Given the description of an element on the screen output the (x, y) to click on. 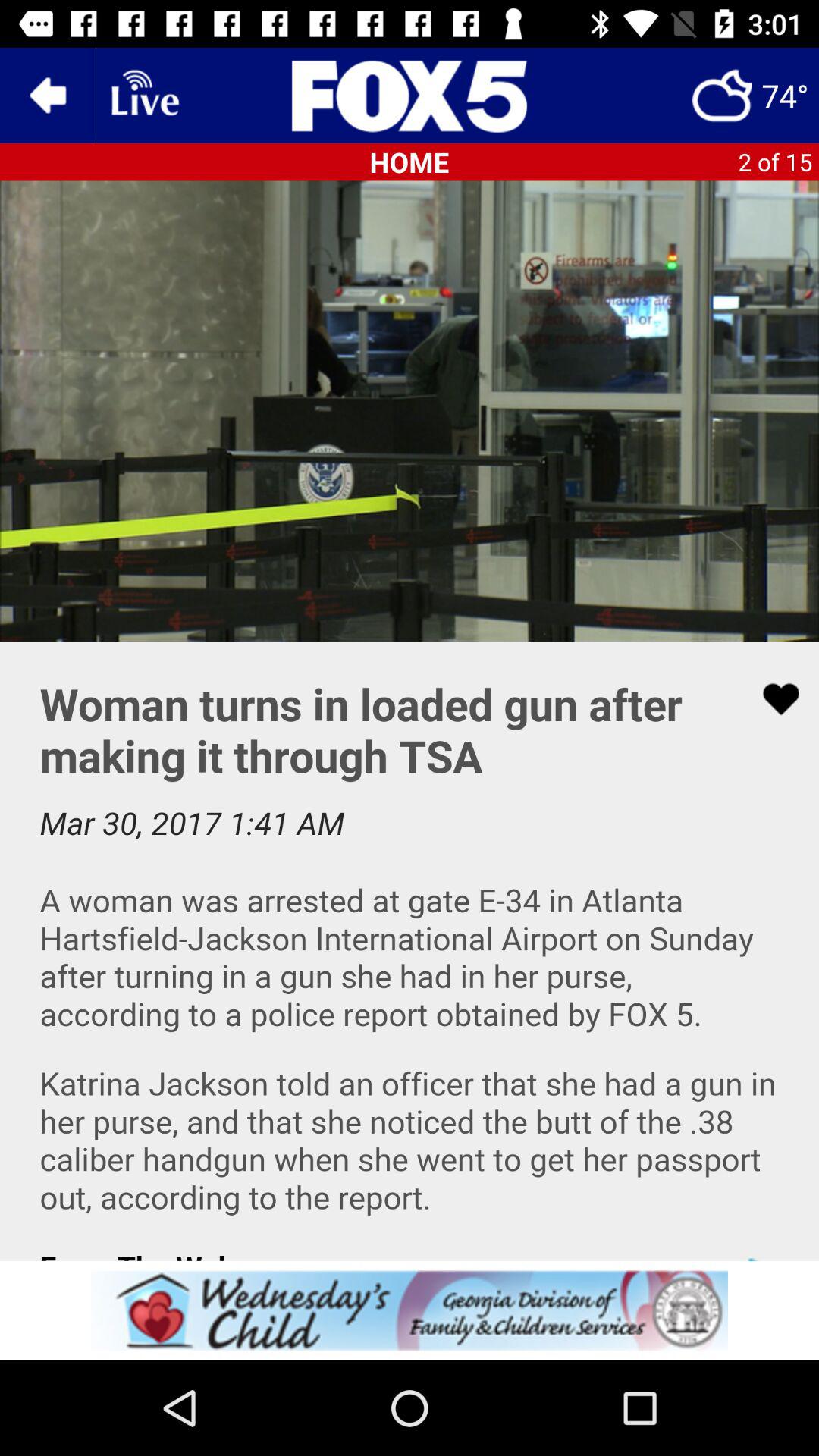
go back one page (47, 95)
